Given the description of an element on the screen output the (x, y) to click on. 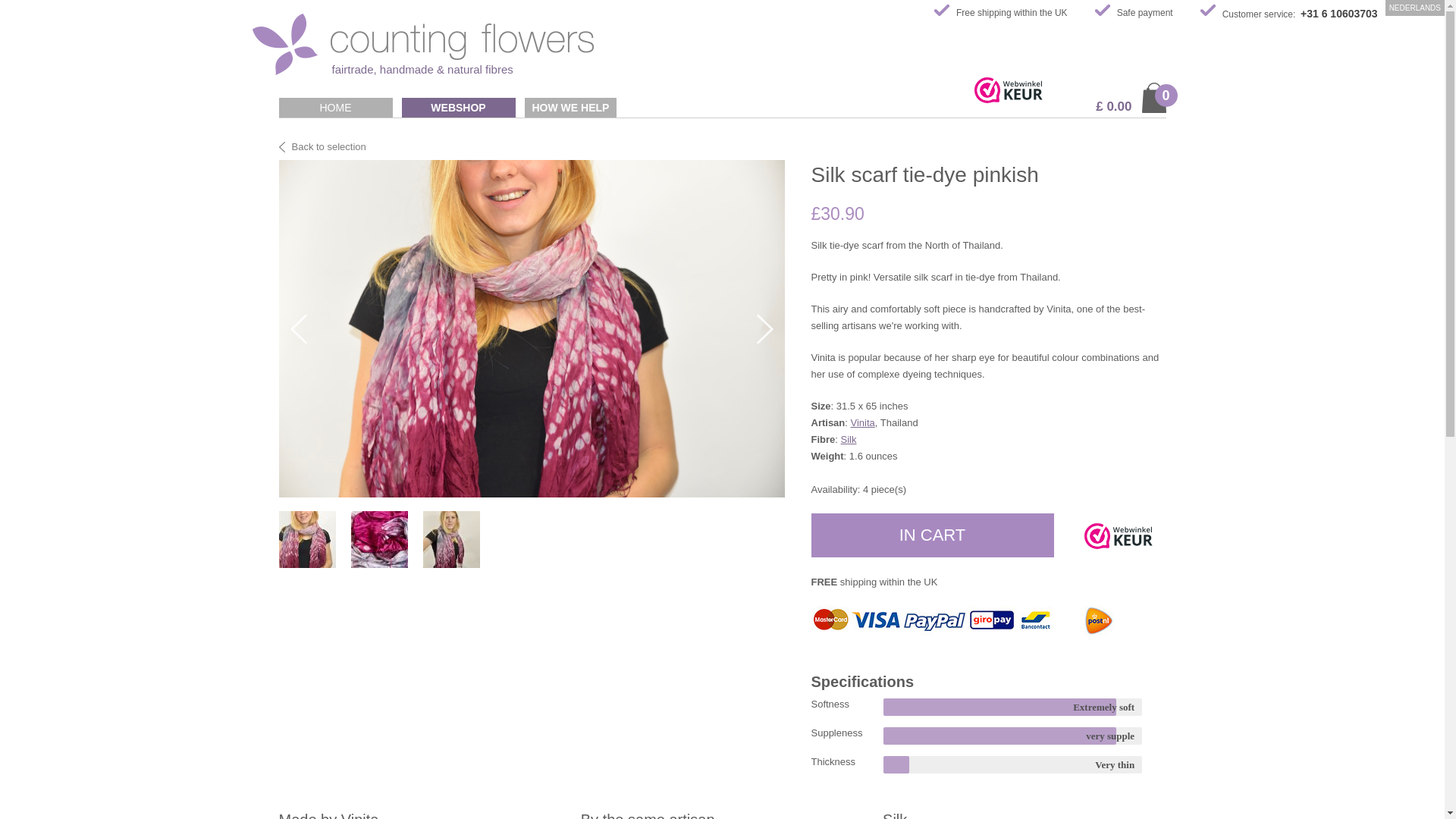
Back to selection (322, 146)
WEBSHOP (458, 107)
Silk (849, 439)
HOME (336, 107)
Vinita (862, 422)
